Given the description of an element on the screen output the (x, y) to click on. 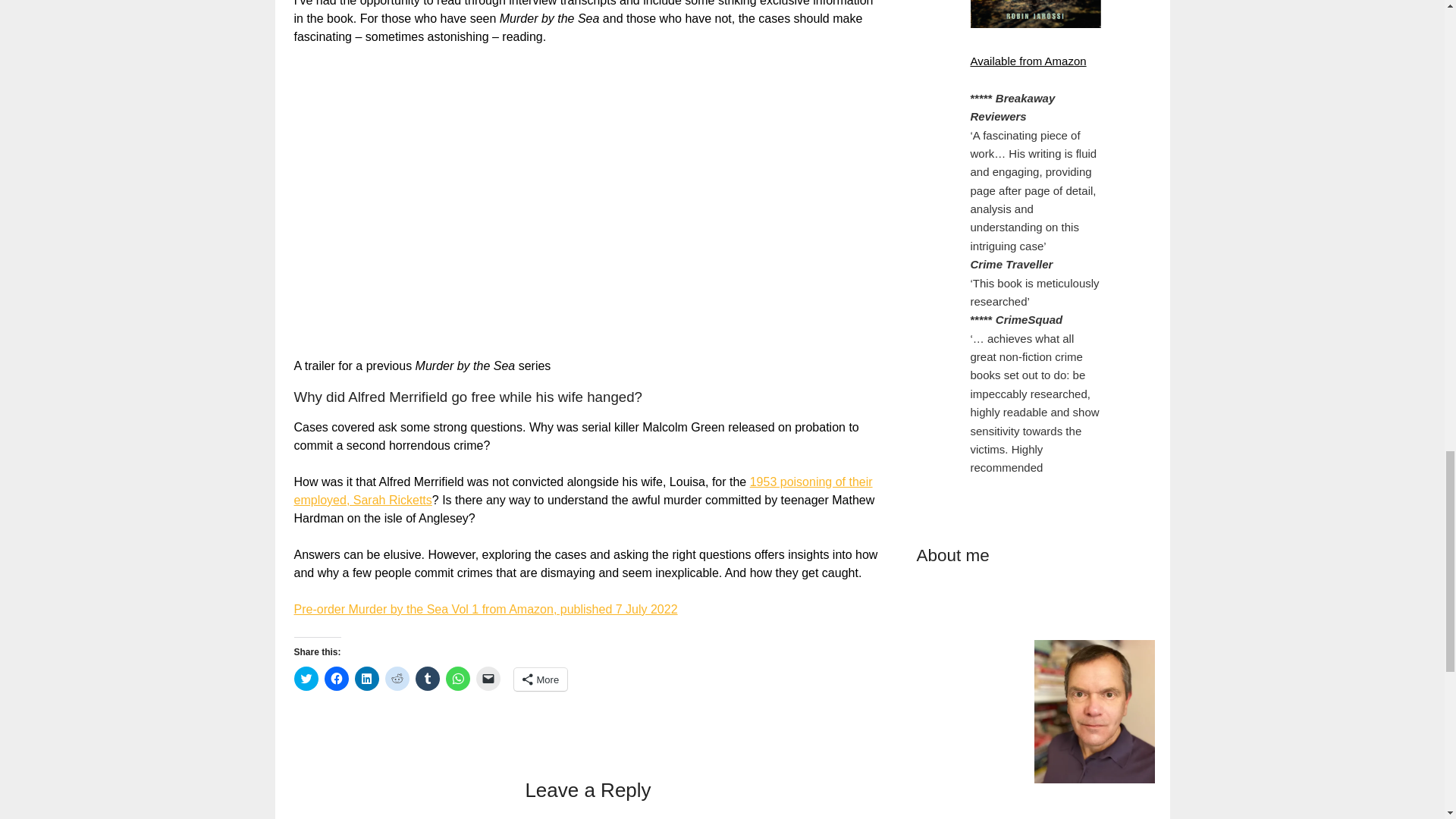
Click to share on WhatsApp (457, 678)
Click to share on Twitter (306, 678)
Click to share on Facebook (336, 678)
Click to share on LinkedIn (366, 678)
Click to share on Reddit (397, 678)
Click to email a link to a friend (488, 678)
More (540, 679)
1953 poisoning of their employed, Sarah Ricketts (583, 490)
Available from Amazon (1028, 60)
